Given the description of an element on the screen output the (x, y) to click on. 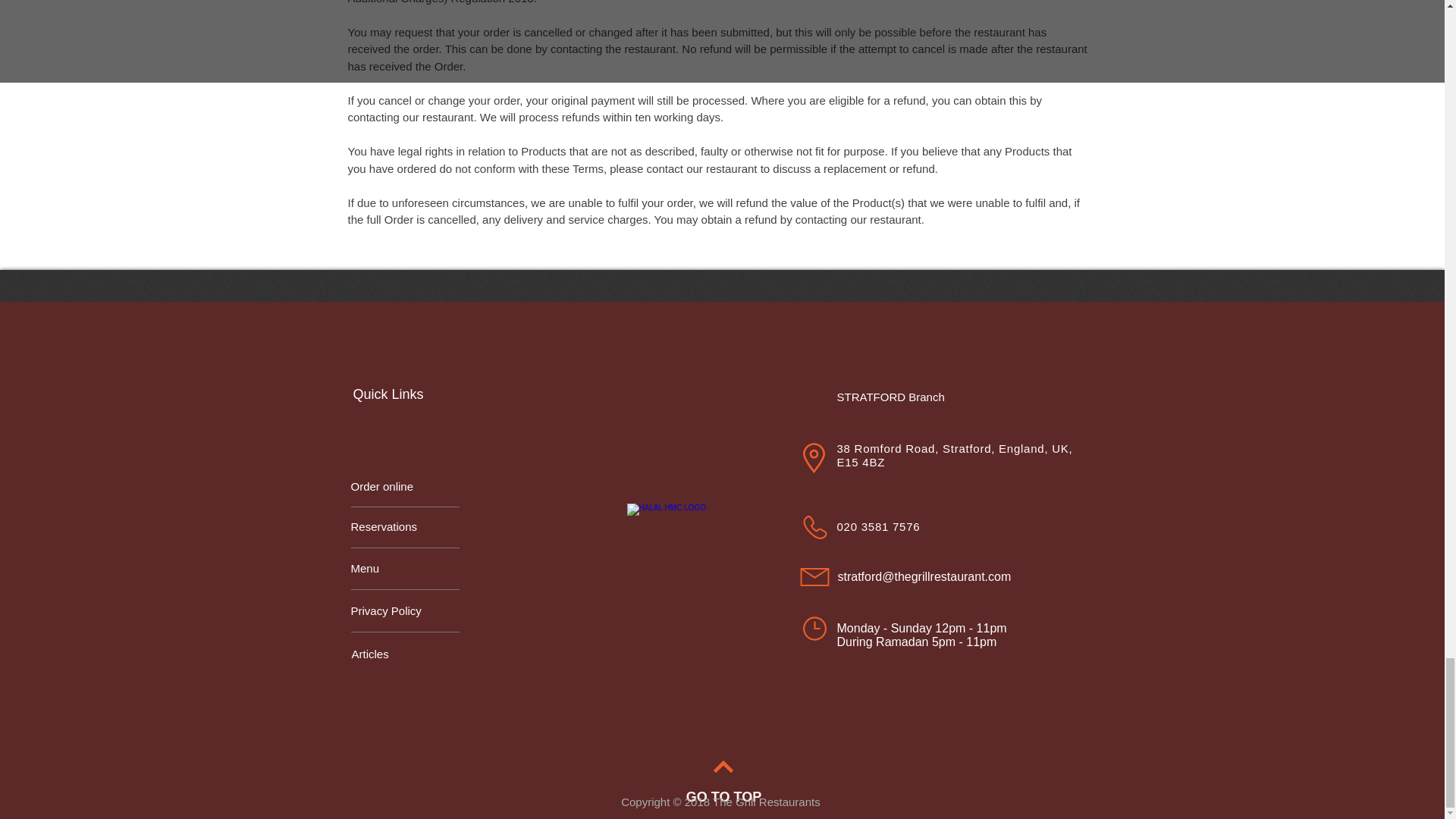
020 3581 7576 (878, 526)
Reservations (404, 526)
Menu (404, 568)
STRATFORD Branch (897, 395)
Order online (404, 486)
HALAL HMC LOGO (671, 547)
38 Romford Road, Stratford, England, UK, E15 4BZ (955, 454)
Privacy Policy (404, 611)
Articles (406, 653)
